Given the description of an element on the screen output the (x, y) to click on. 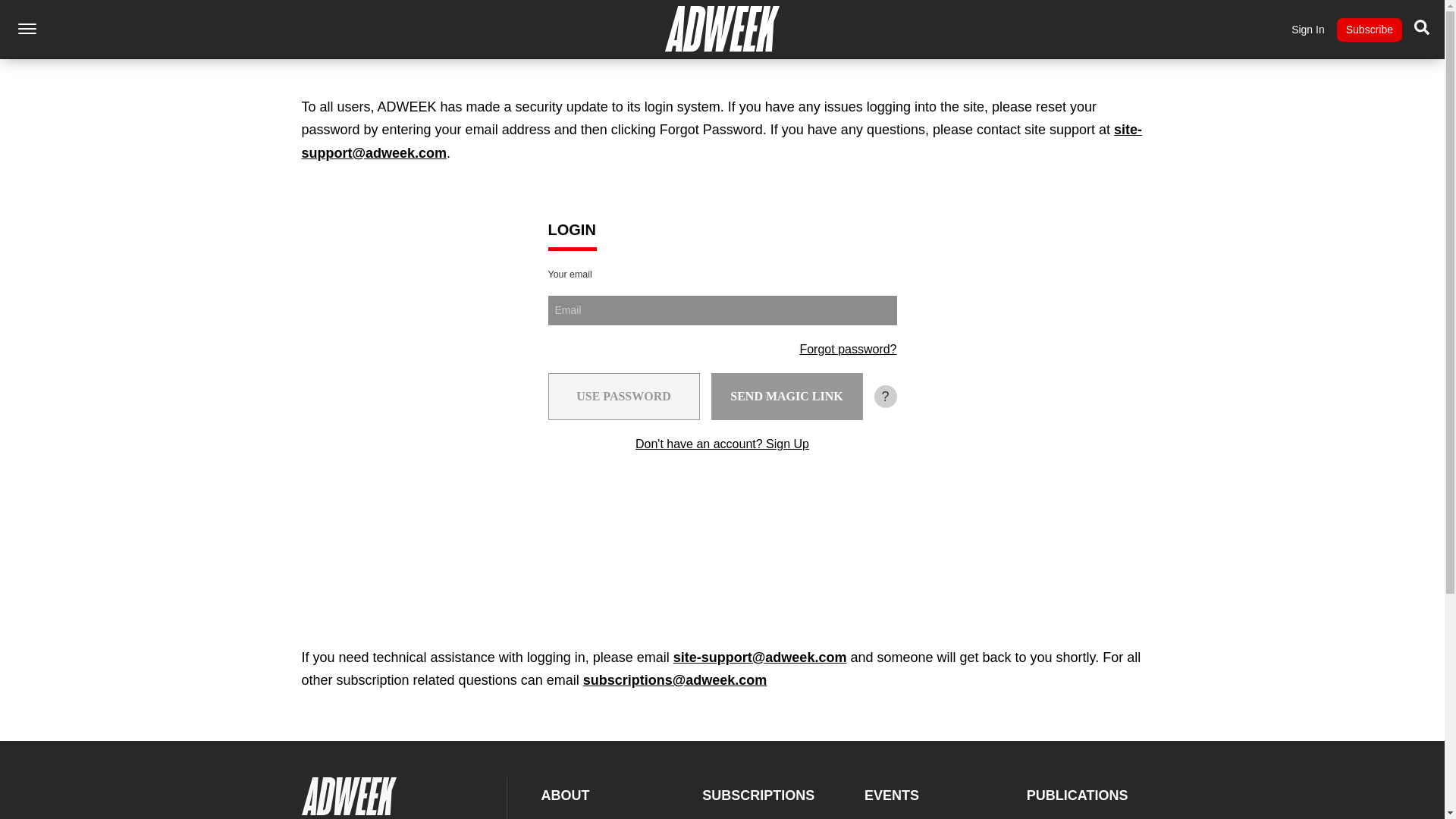
Sign In (1307, 29)
SEND MAGIC LINK (787, 396)
Toggle Main Menu (26, 28)
Forgot password? (847, 349)
ABOUT (565, 795)
Subscribe (1369, 29)
USE PASSWORD (622, 396)
Don't have an account? Sign Up (721, 443)
